Given the description of an element on the screen output the (x, y) to click on. 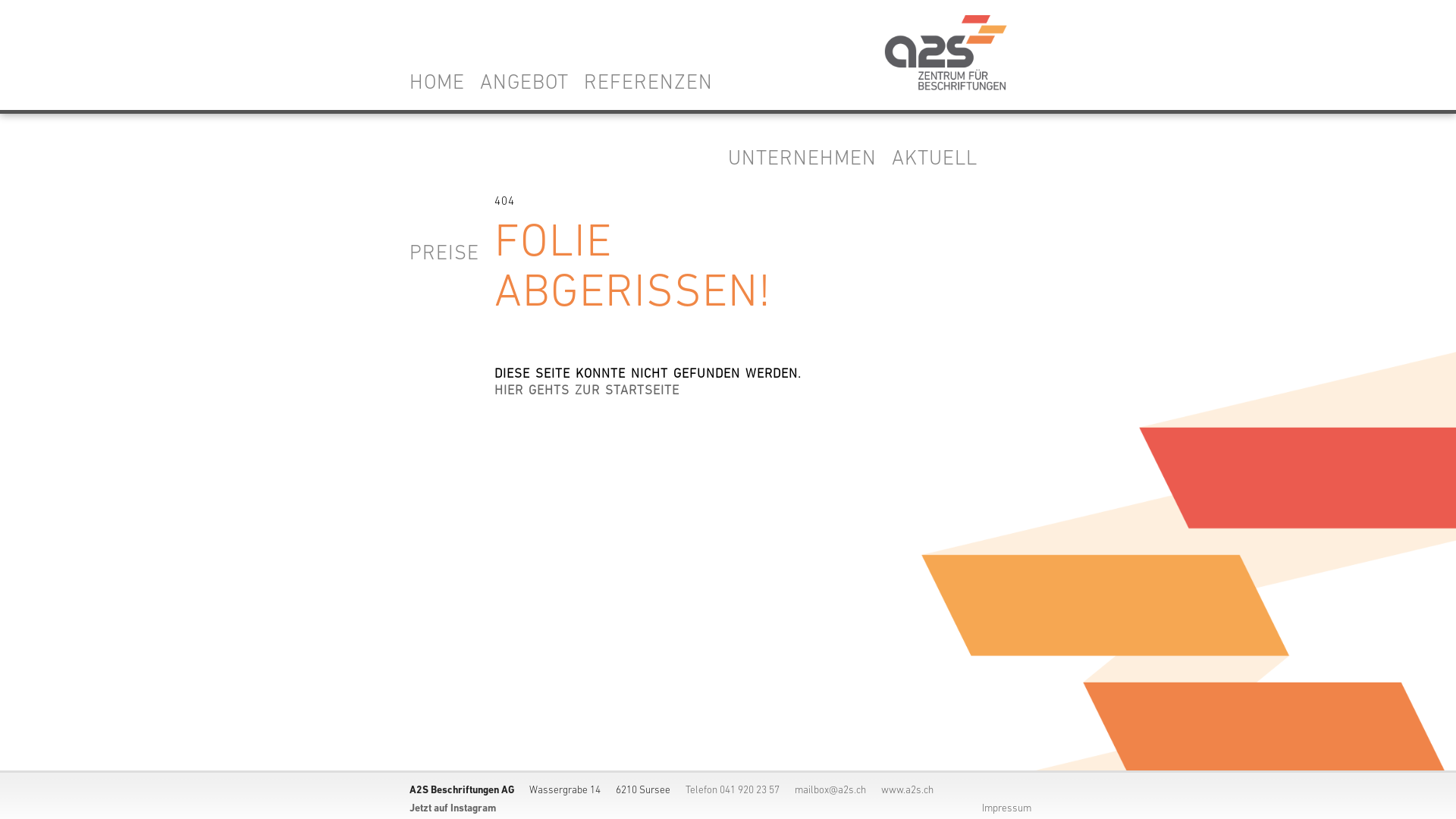
Telefon 041 920 23 57 Element type: text (732, 790)
AKTUELL Element type: text (941, 158)
UNTERNEHMEN Element type: text (809, 158)
www.a2s.ch Element type: text (907, 790)
PREISE Element type: text (451, 253)
ANGEBOT Element type: text (531, 82)
REFERENZEN Element type: text (655, 82)
HIER GEHTS ZUR STARTSEITE Element type: text (586, 390)
Impressum Element type: text (1006, 808)
HOME Element type: text (444, 82)
Jetzt auf Instagram Element type: text (452, 808)
mailbox@a2s.ch Element type: text (830, 790)
